Given the description of an element on the screen output the (x, y) to click on. 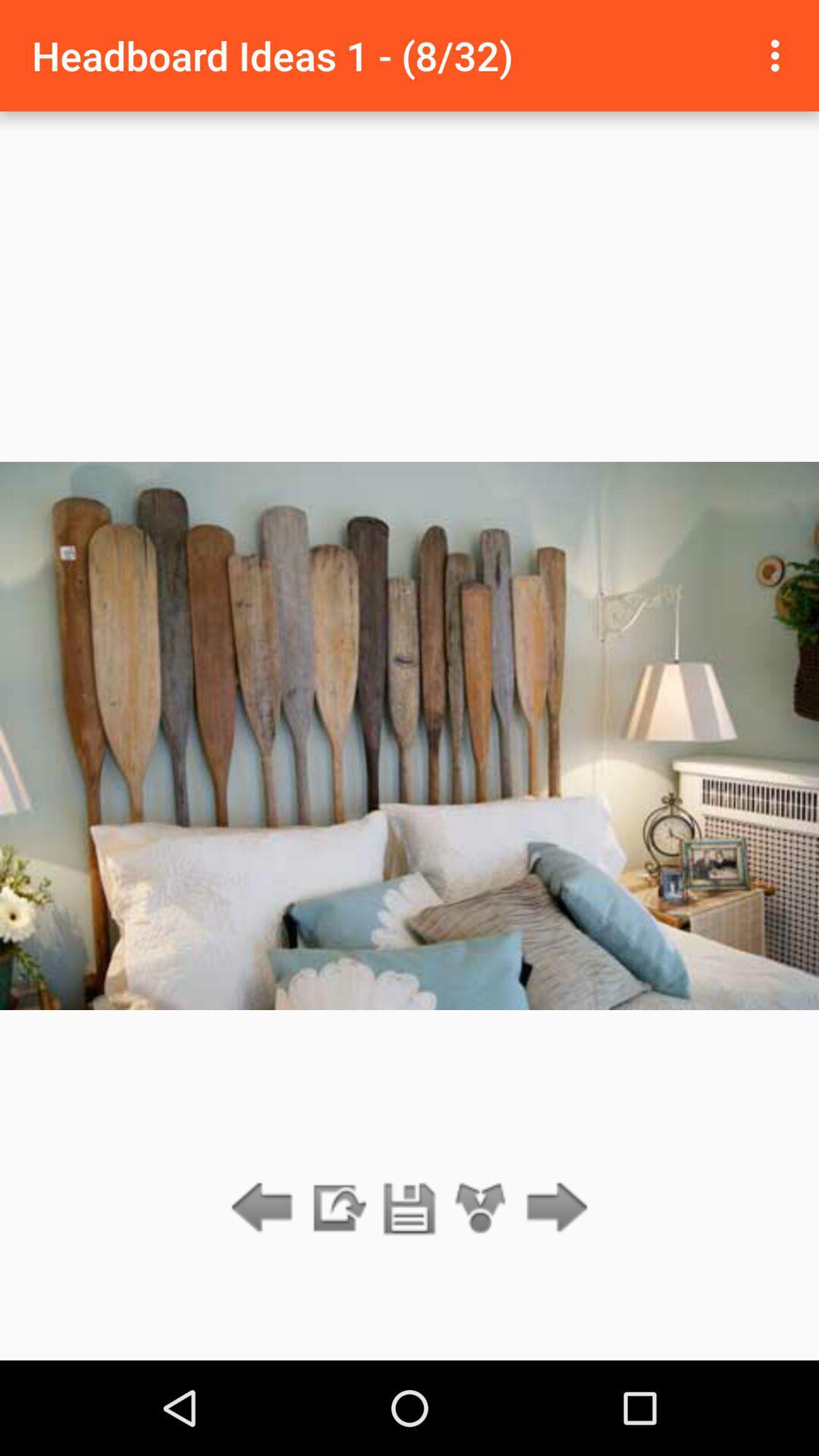
save image (409, 1208)
